Given the description of an element on the screen output the (x, y) to click on. 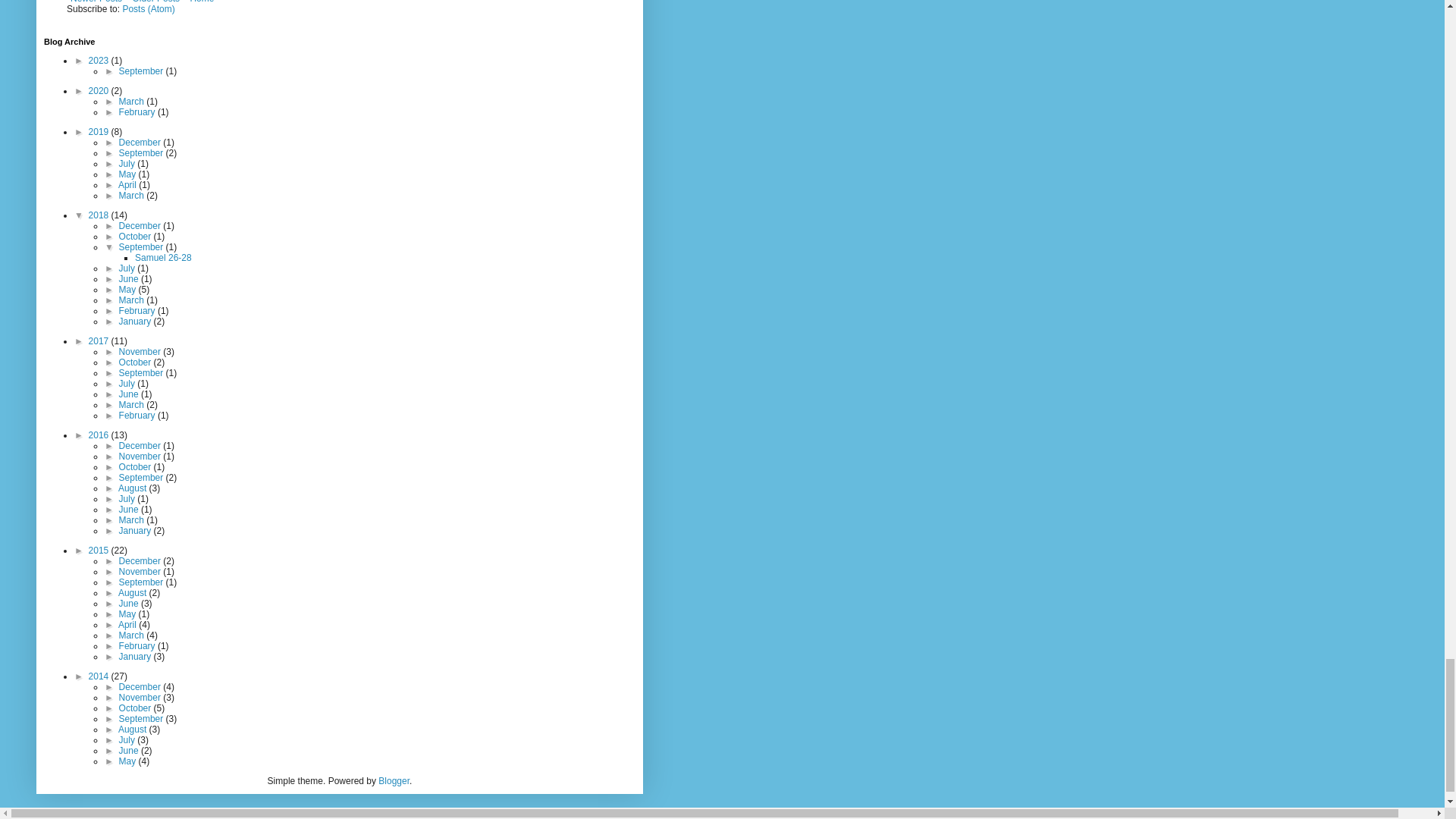
Older Posts (155, 3)
Older Posts (155, 3)
September (142, 71)
2023 (100, 60)
Home (201, 3)
Newer Posts (95, 3)
2020 (100, 90)
Newer Posts (95, 3)
